Given the description of an element on the screen output the (x, y) to click on. 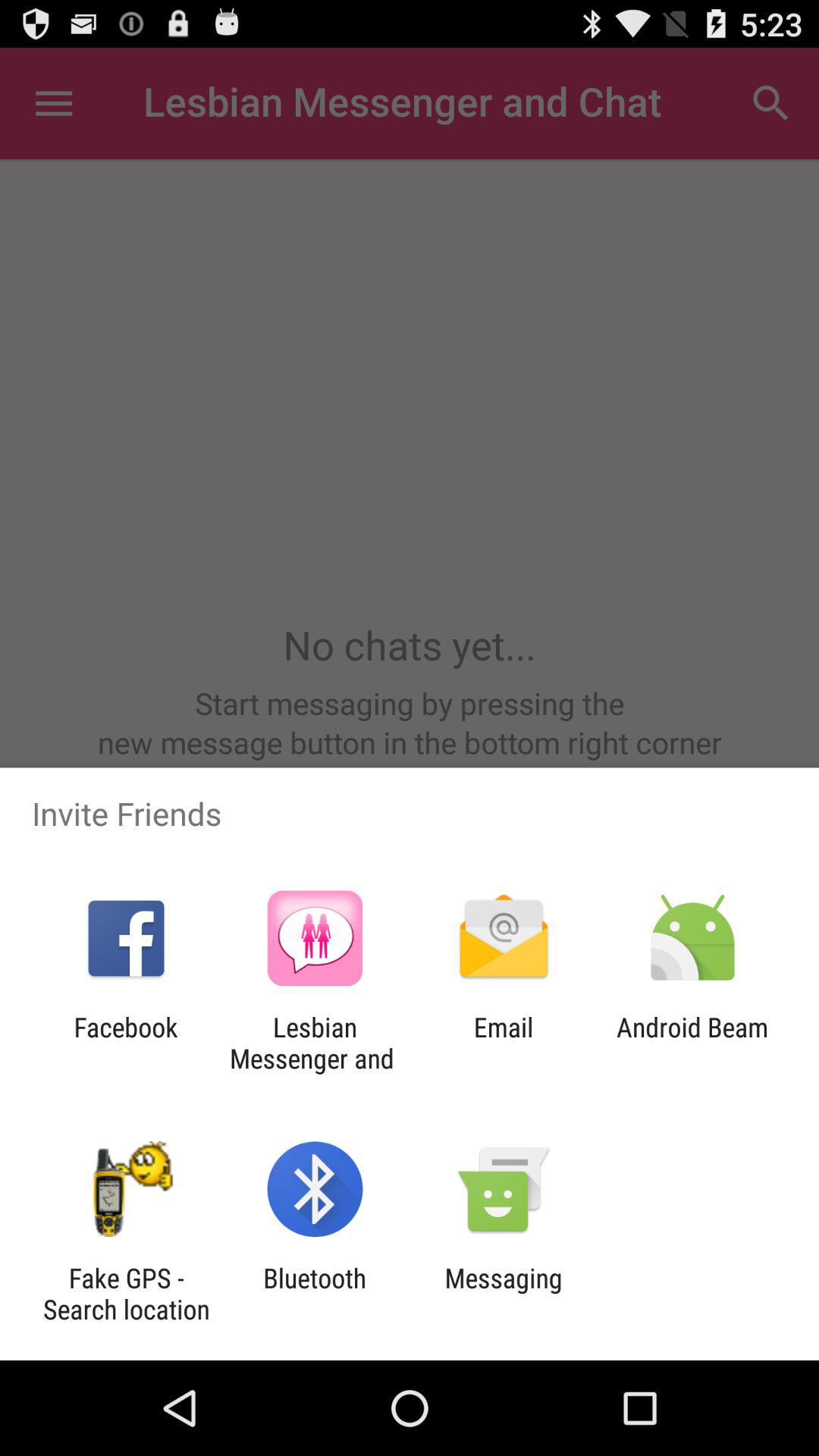
turn on app to the right of fake gps search item (314, 1293)
